Given the description of an element on the screen output the (x, y) to click on. 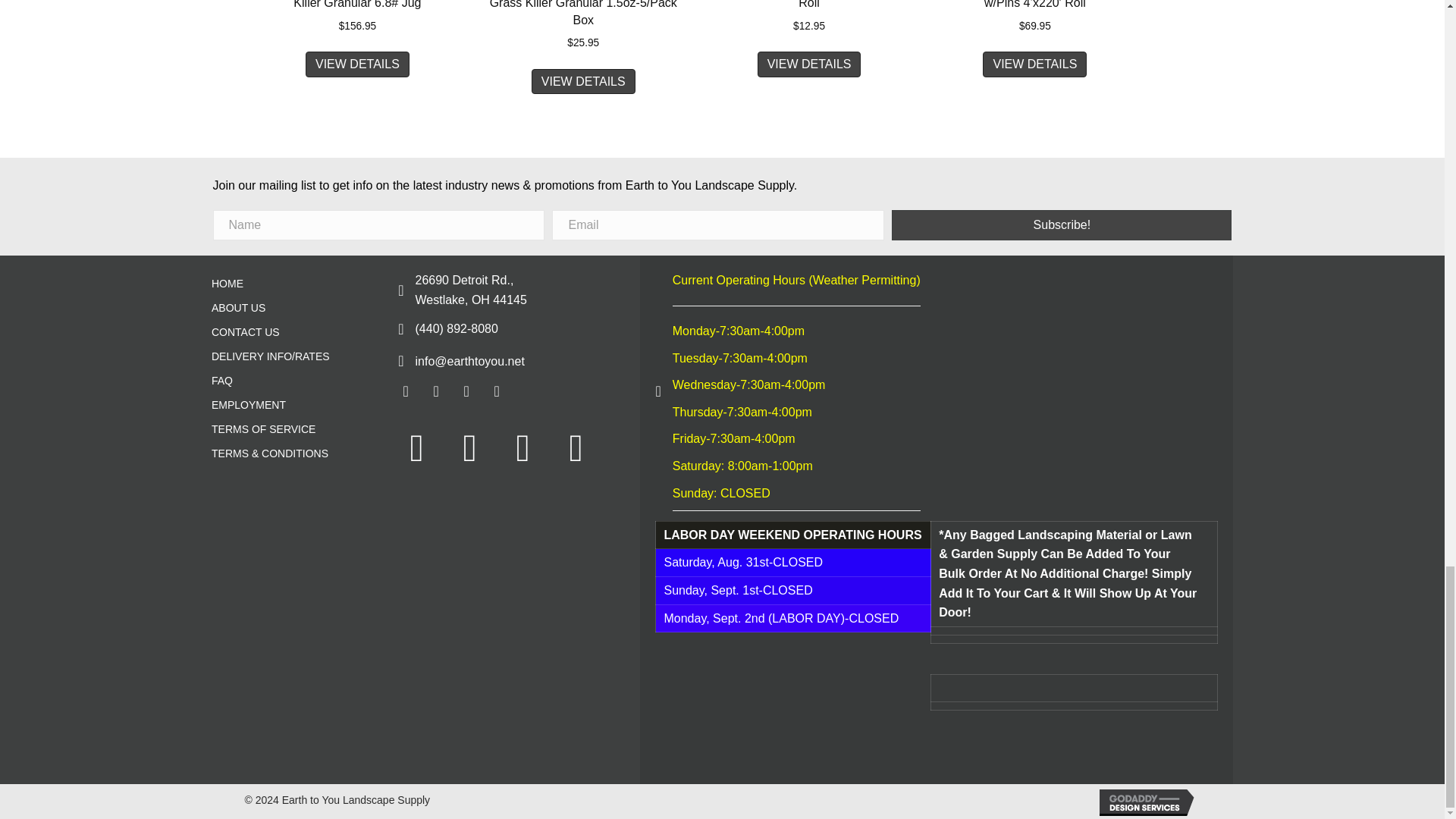
Facebook (405, 390)
Instagram (466, 390)
Twitter (435, 390)
Pinterest (496, 390)
